Given the description of an element on the screen output the (x, y) to click on. 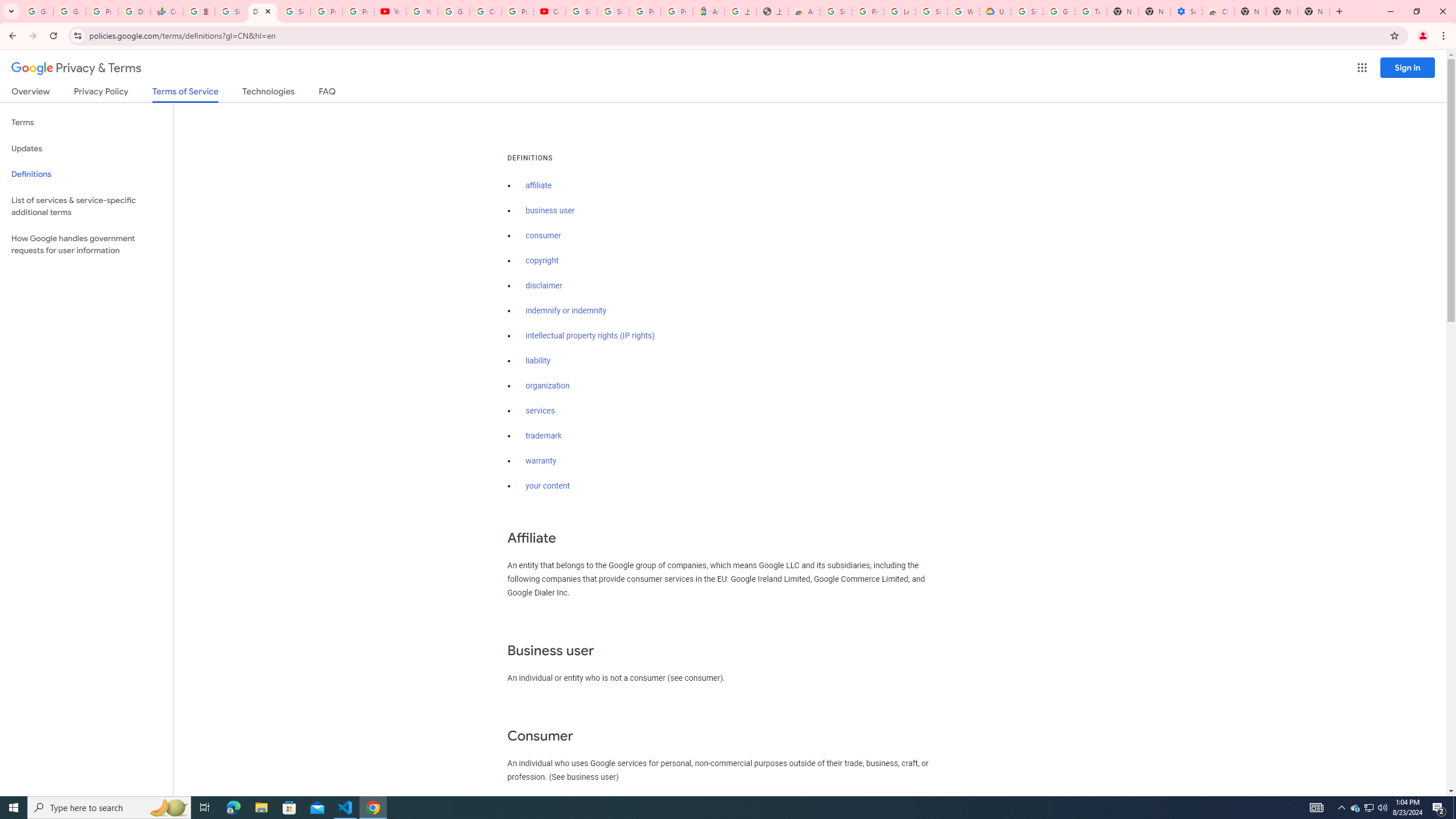
liability (537, 361)
Sign in - Google Accounts (836, 11)
Privacy Checkup (358, 11)
disclaimer (543, 285)
